Given the description of an element on the screen output the (x, y) to click on. 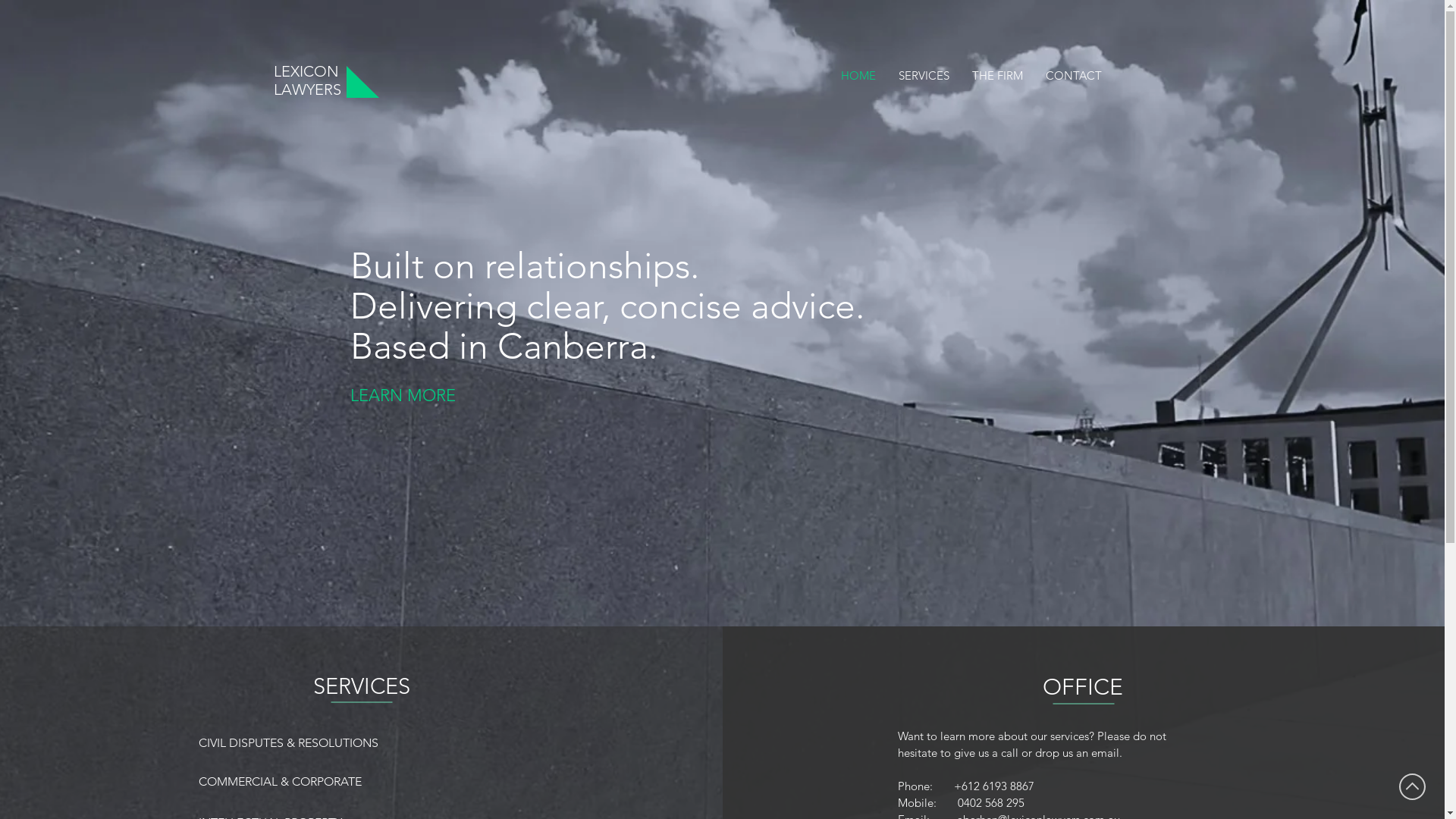
COMMERCIAL & CORPORATE Element type: text (279, 781)
LEARN MORE Element type: text (426, 395)
THE FIRM Element type: text (996, 75)
CONTACT Element type: text (1073, 75)
CIVIL DISPUTES & RESOLUTIONS Element type: text (292, 743)
SERVICES Element type: text (923, 75)
LEXICON Element type: text (305, 71)
LAWYERS Element type: text (306, 89)
HOME Element type: text (858, 75)
